Given the description of an element on the screen output the (x, y) to click on. 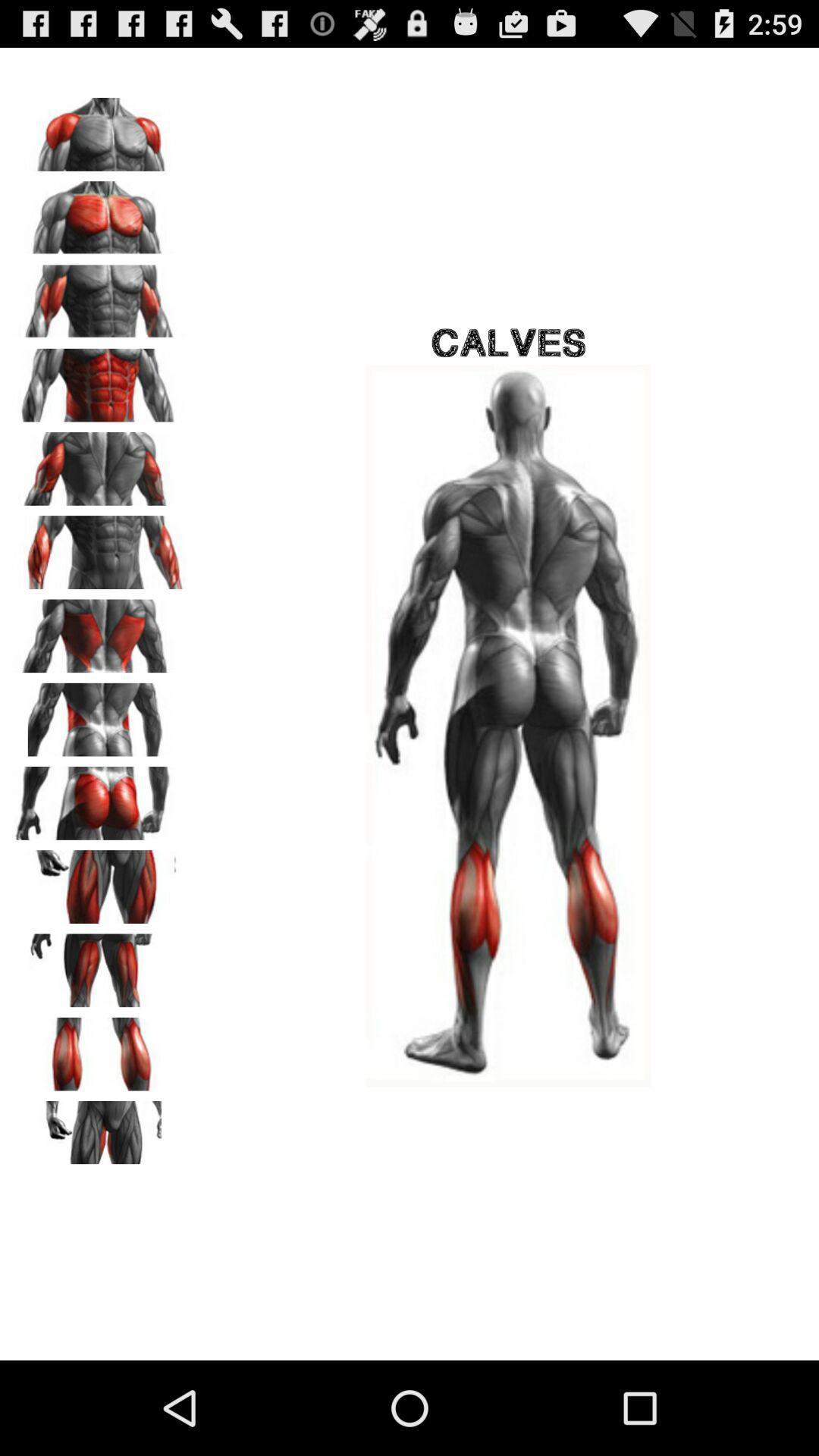
pick option (99, 965)
